Given the description of an element on the screen output the (x, y) to click on. 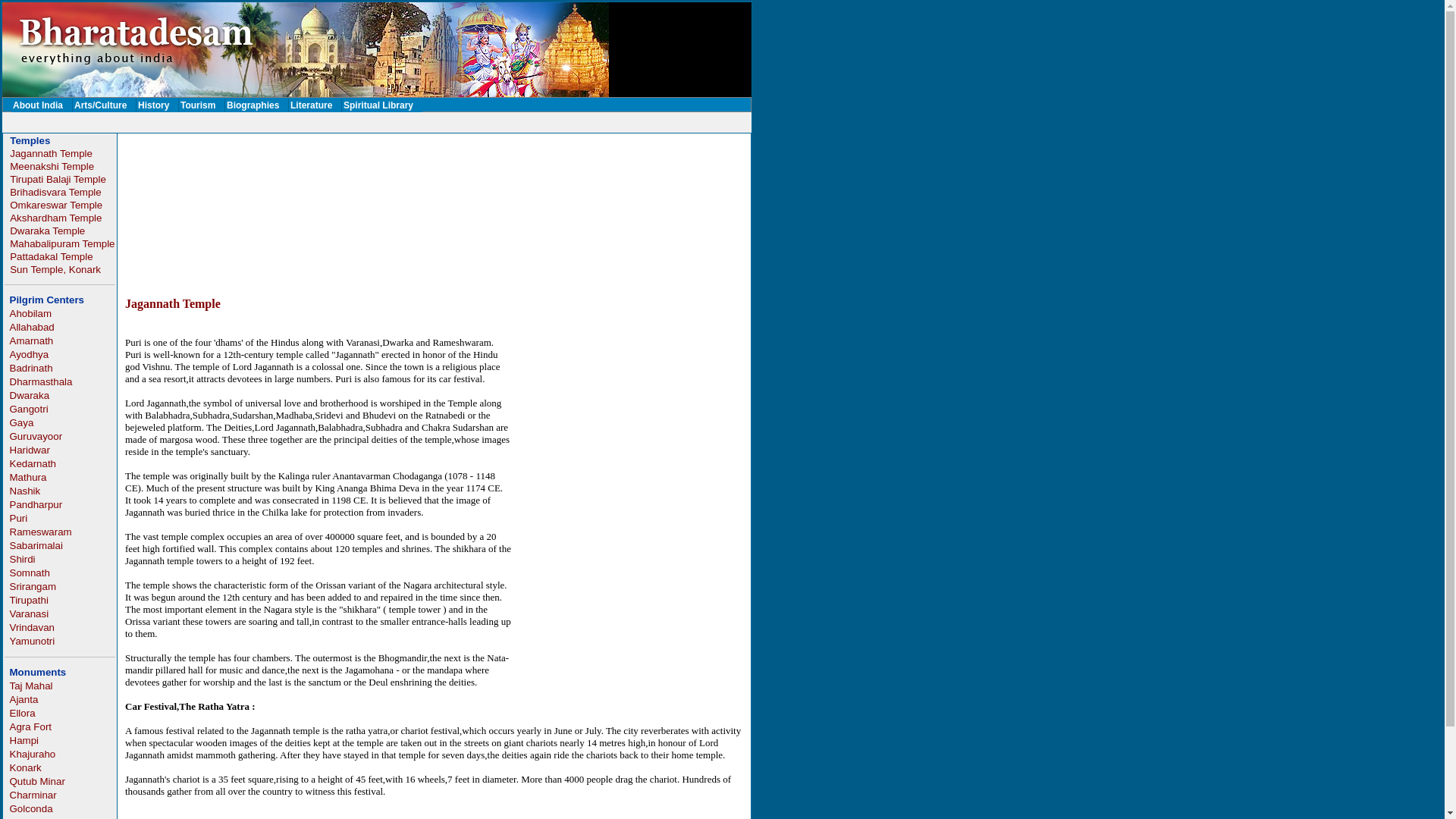
Advertisement (403, 245)
Advertisement (627, 596)
Advertisement (376, 122)
Advertisement (403, 177)
